Given the description of an element on the screen output the (x, y) to click on. 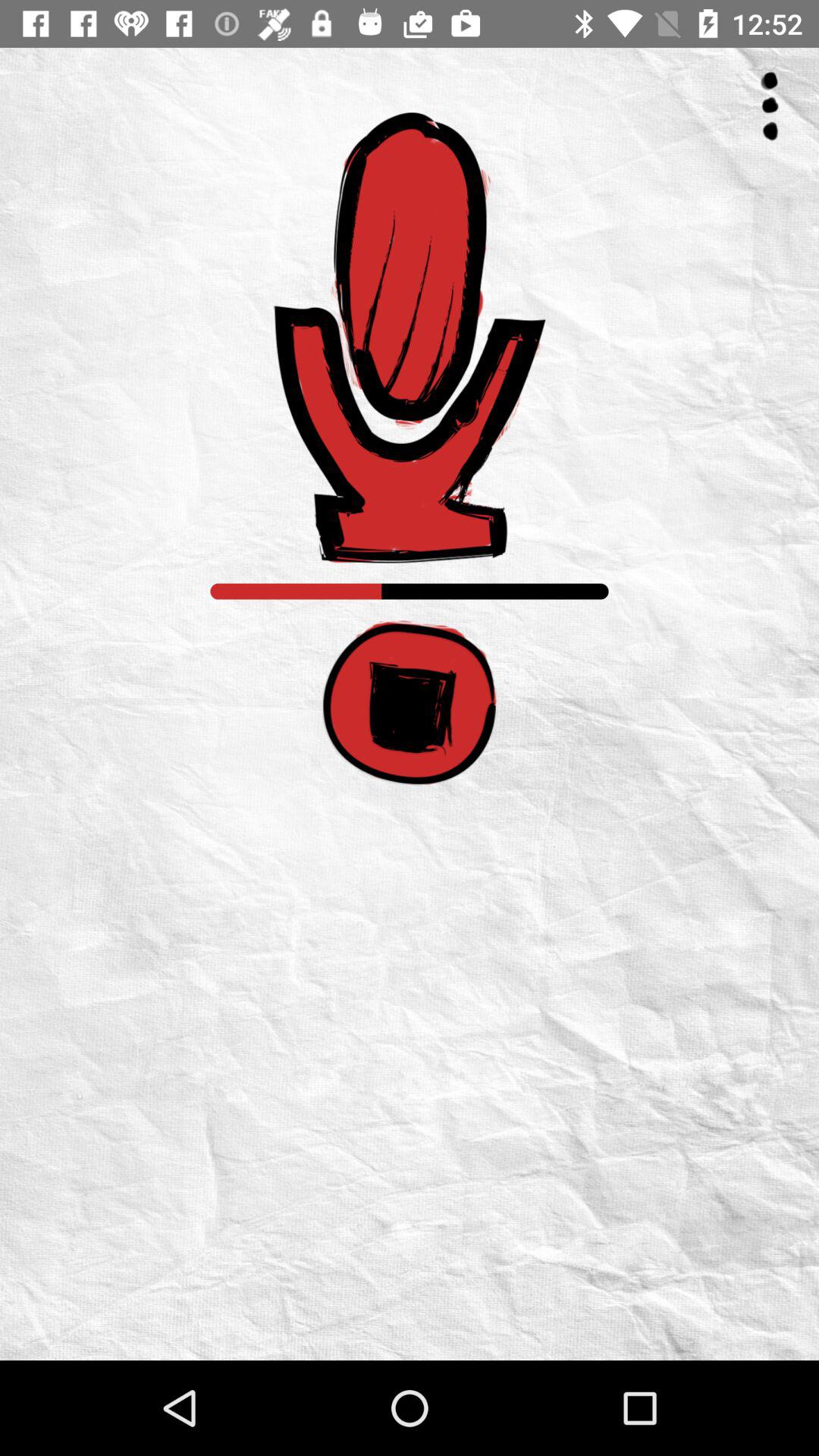
stop recording (409, 702)
